Given the description of an element on the screen output the (x, y) to click on. 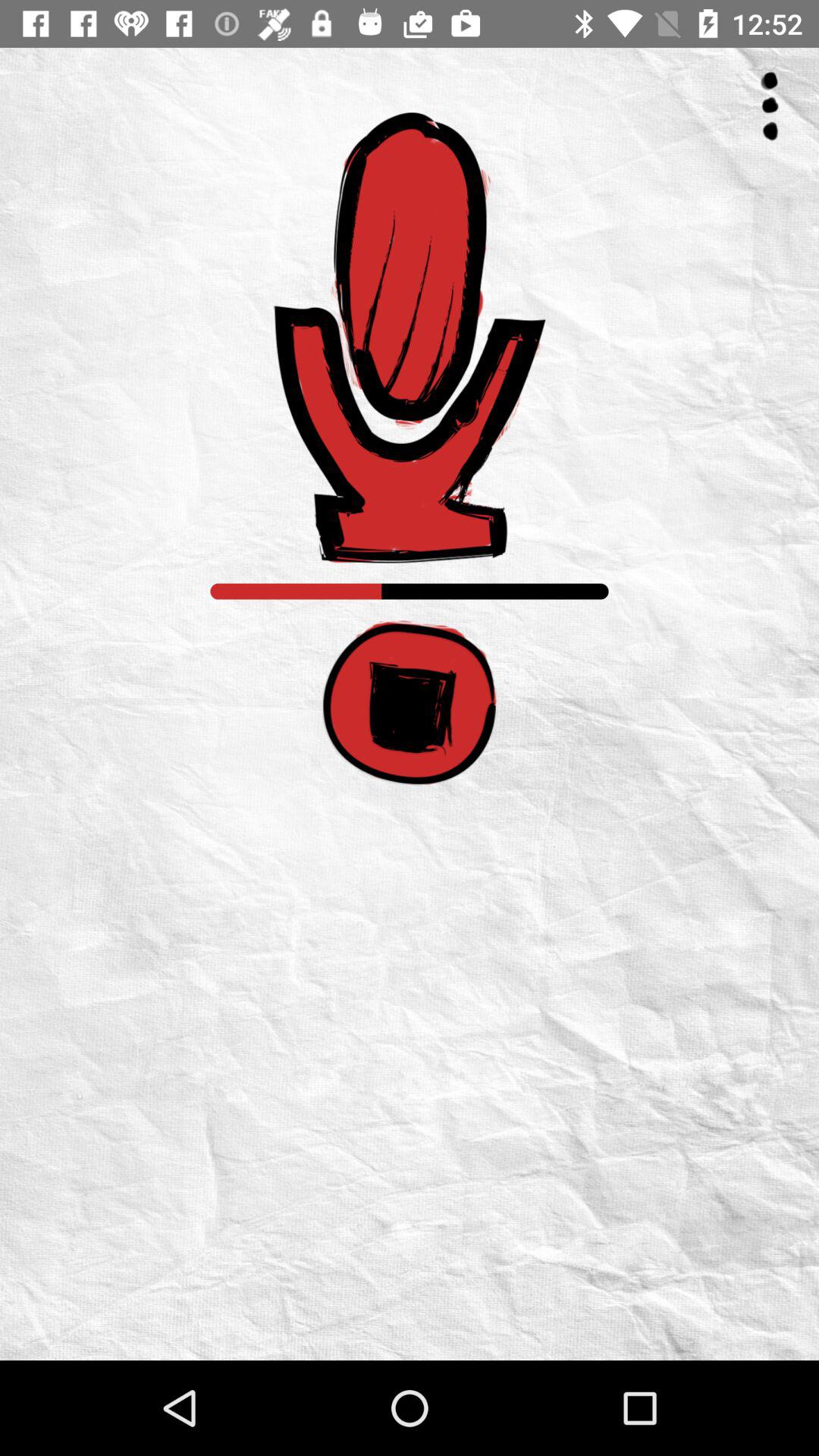
stop recording (409, 702)
